Given the description of an element on the screen output the (x, y) to click on. 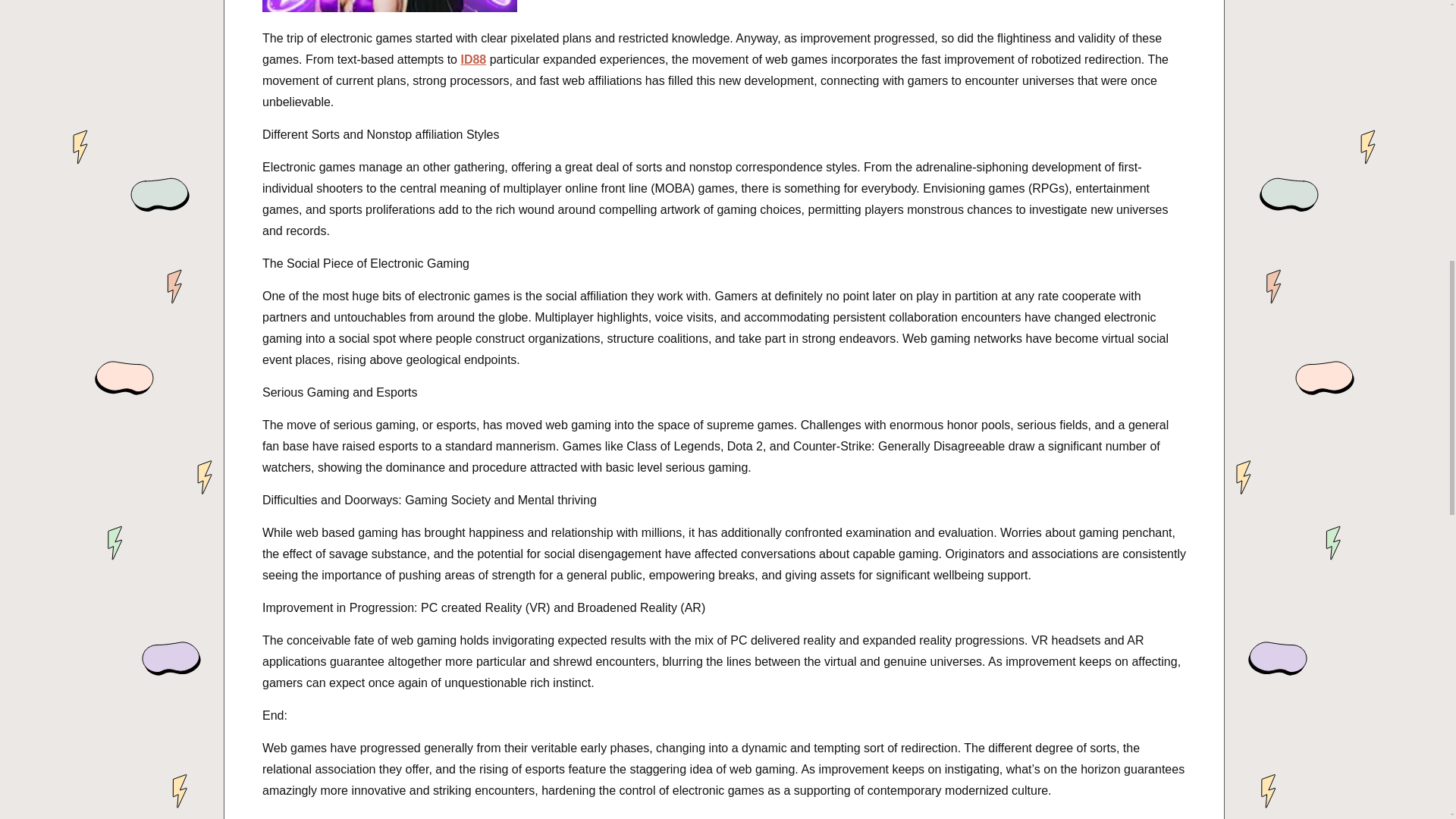
ID88 (473, 59)
